Given the description of an element on the screen output the (x, y) to click on. 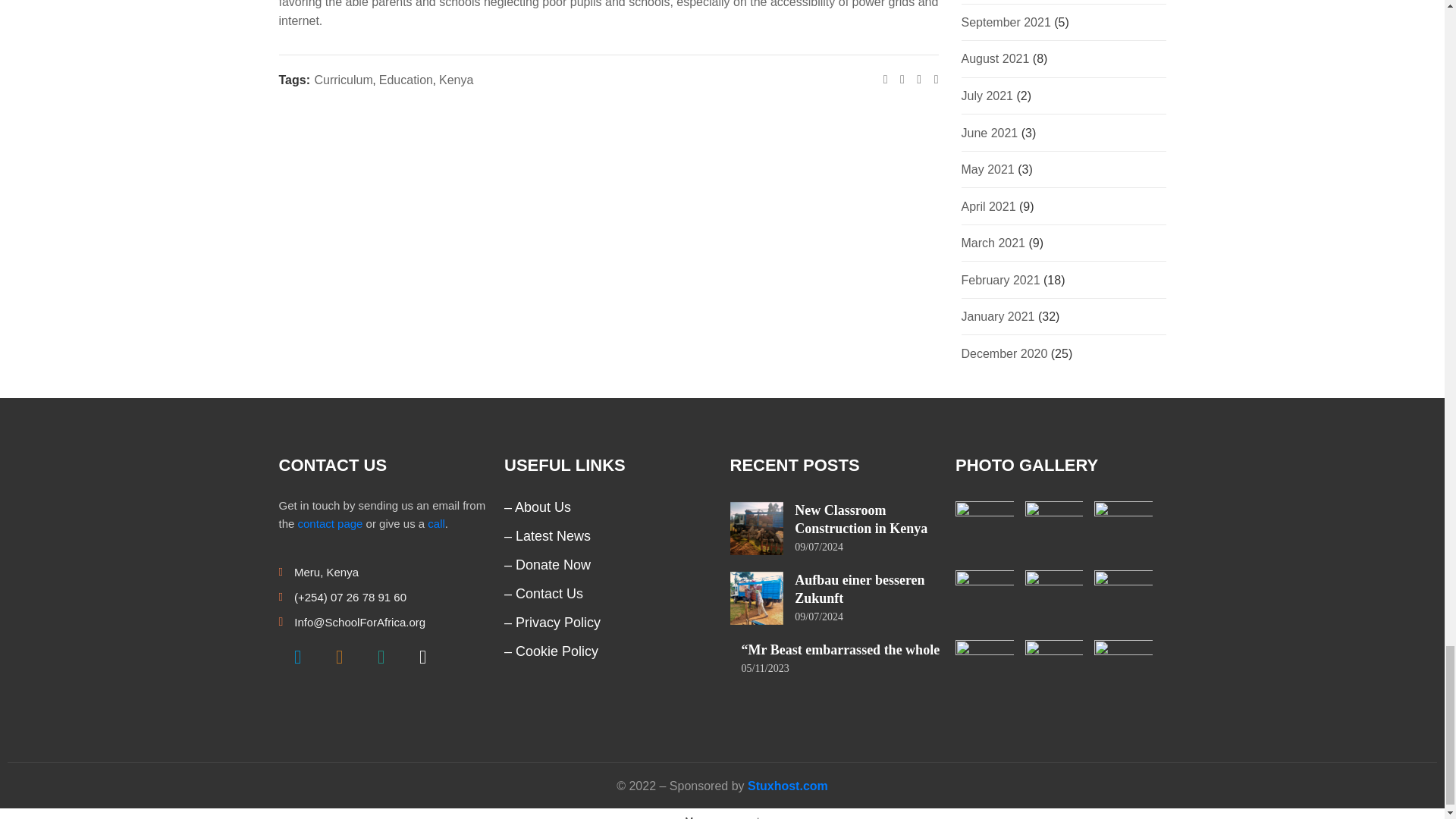
New Classroom Construction in Kenya (860, 519)
Education (405, 79)
Aufbau einer besseren Zukunft (859, 589)
Curriculum (343, 79)
Kenya (456, 79)
